Given the description of an element on the screen output the (x, y) to click on. 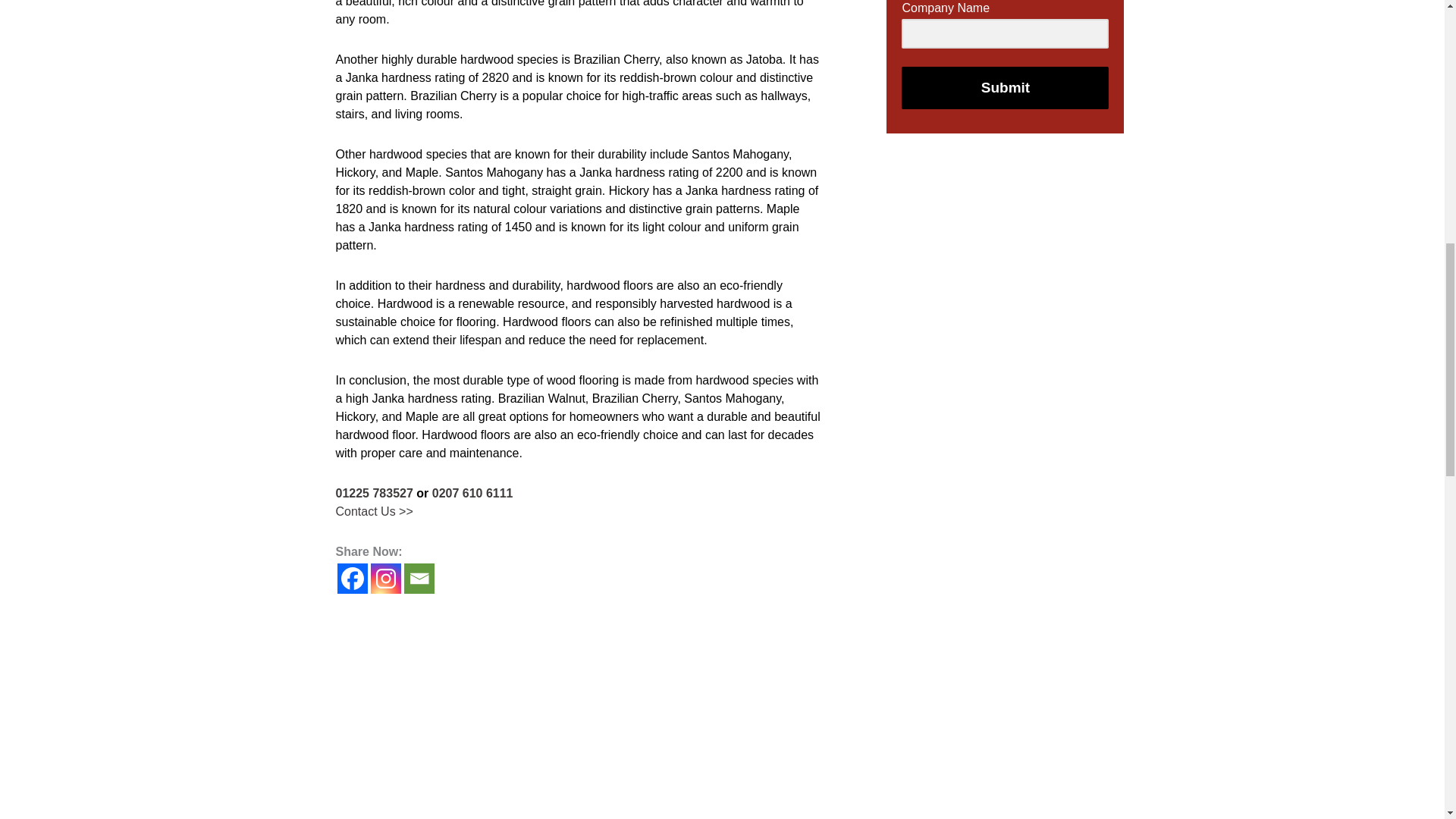
Facebook (351, 578)
Email (418, 578)
Instagram (384, 578)
